Given the description of an element on the screen output the (x, y) to click on. 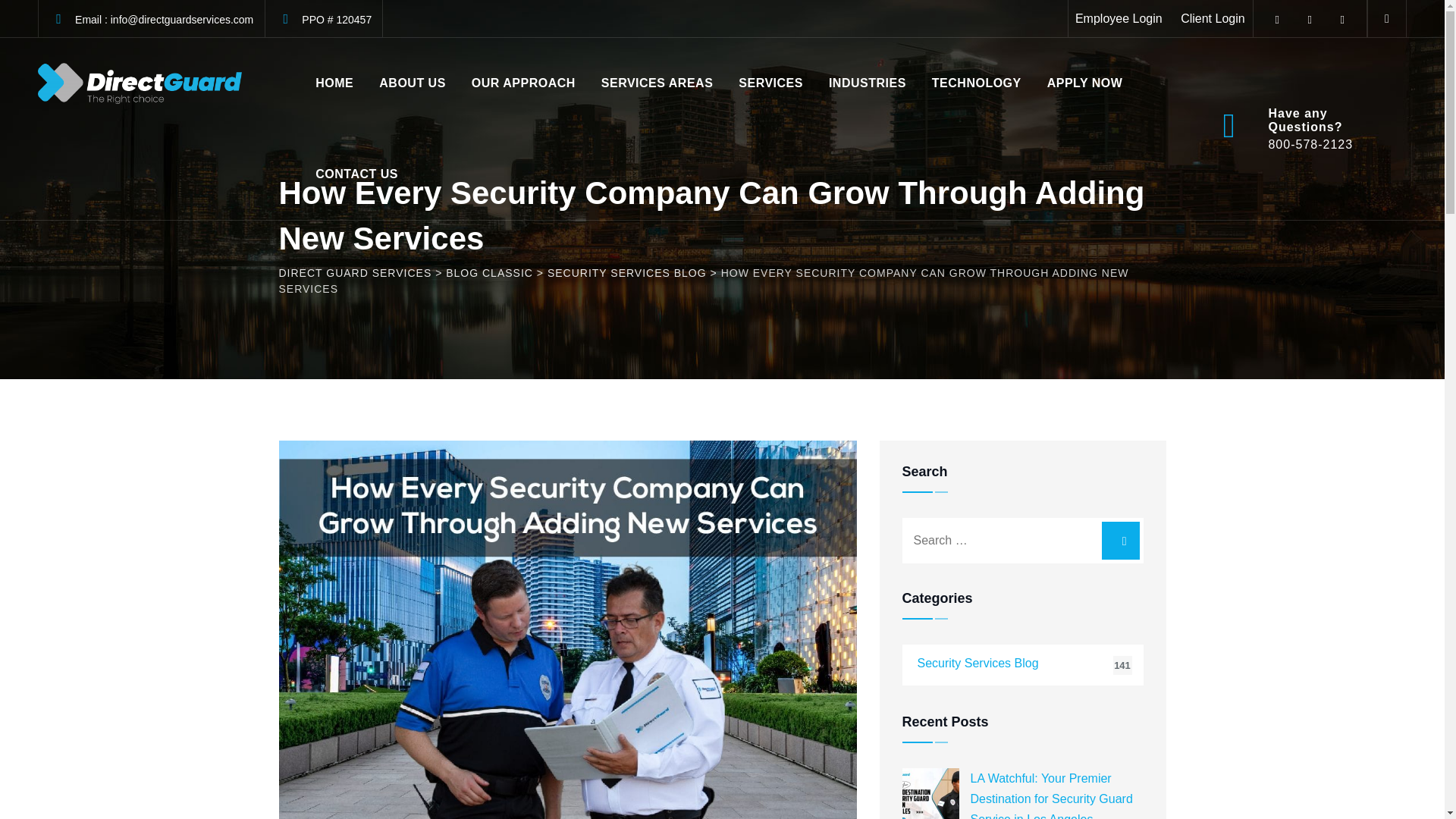
Client Login (1212, 18)
Go to the Security Services Blog Category archives. (626, 272)
Employee Login (1118, 18)
Go to Blog Classic. (488, 272)
OUR APPROACH (523, 82)
Direct Guard Services (139, 83)
SERVICES AREAS (657, 82)
Go to Direct Guard Services. (355, 272)
